Given the description of an element on the screen output the (x, y) to click on. 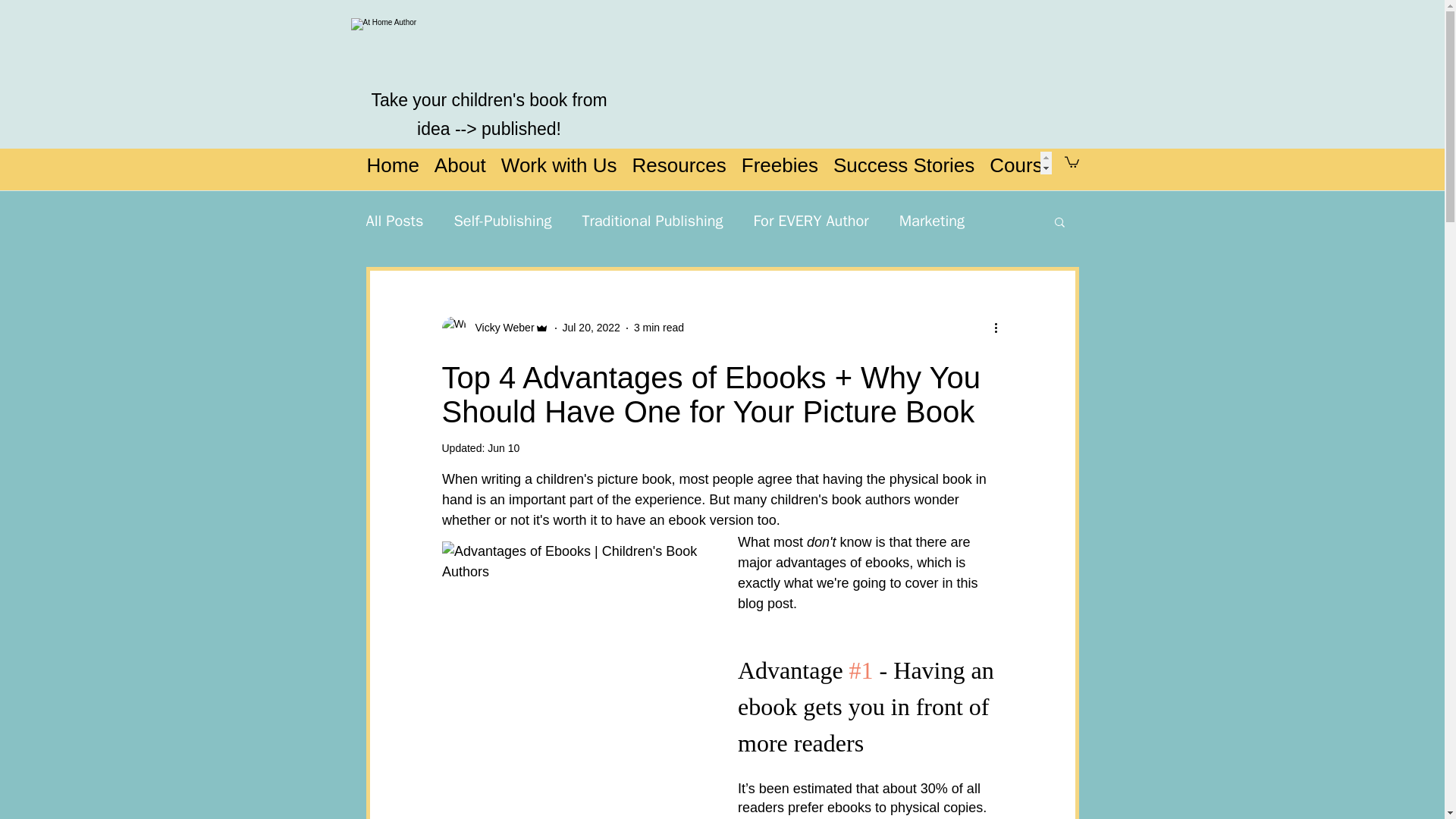
Vicky Weber (494, 328)
Jul 20, 2022 (591, 327)
All Posts (394, 220)
For EVERY Author (811, 220)
Home (392, 162)
Jun 10 (503, 448)
Course Login (1048, 162)
3 min read (658, 327)
Vicky Weber (499, 327)
Self-Publishing (501, 220)
Traditional Publishing (651, 220)
Marketing (931, 220)
